Given the description of an element on the screen output the (x, y) to click on. 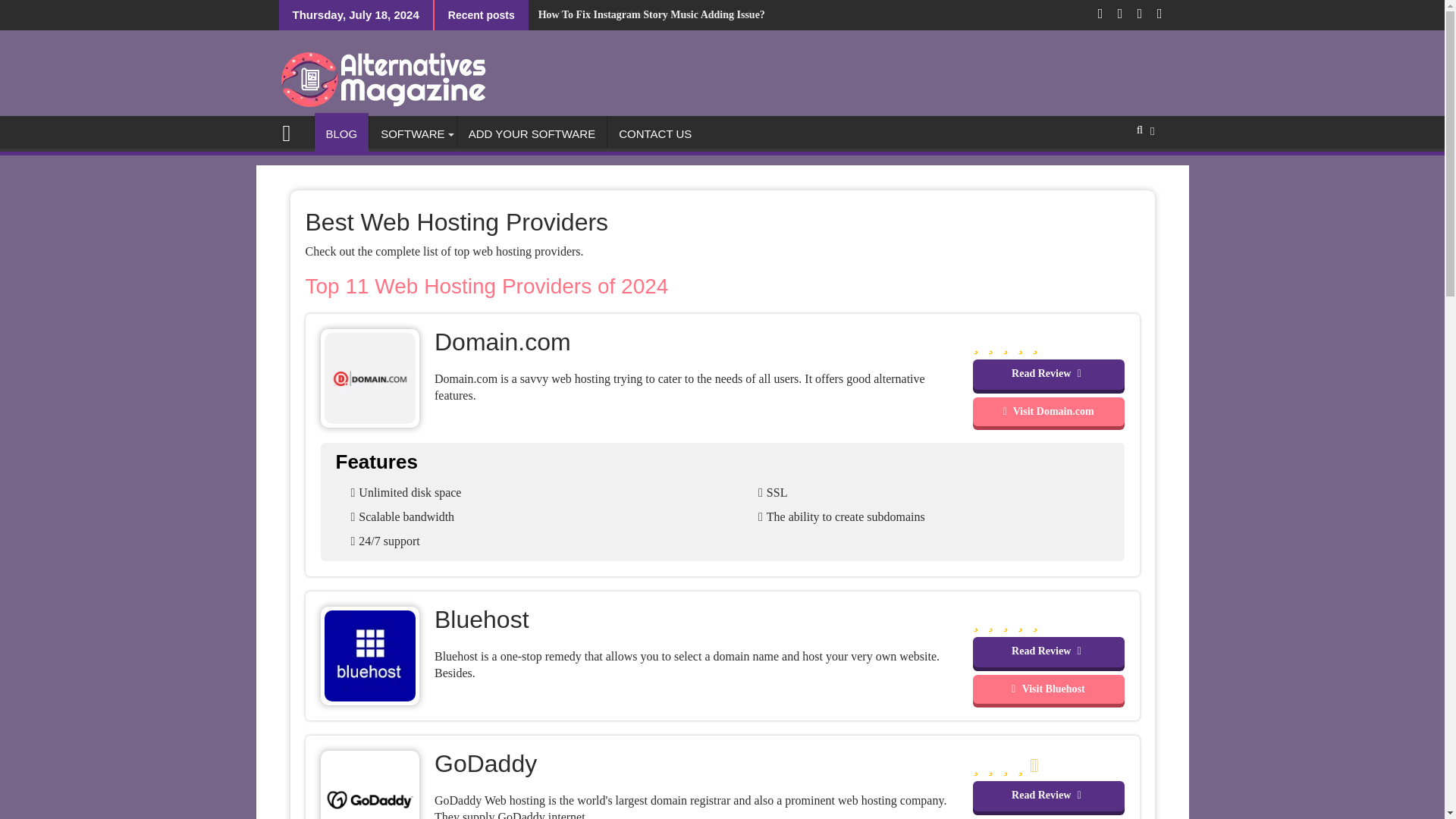
How To Fix Instagram Story Music Adding Issue? (646, 15)
BLOG (341, 134)
The Most Trusted 8 Websites Like "KissAsian" (640, 15)
Domain.com (1048, 411)
Alternatives Magazine (293, 131)
BlueHost (1048, 688)
SOFTWARE (412, 134)
godaddy alternatives (369, 798)
The Most Trusted 8 Websites Like "KissAsian" (640, 15)
How To Fix Instagram Story Music Adding Issue? (646, 15)
bluehost alternatives (369, 654)
